Given the description of an element on the screen output the (x, y) to click on. 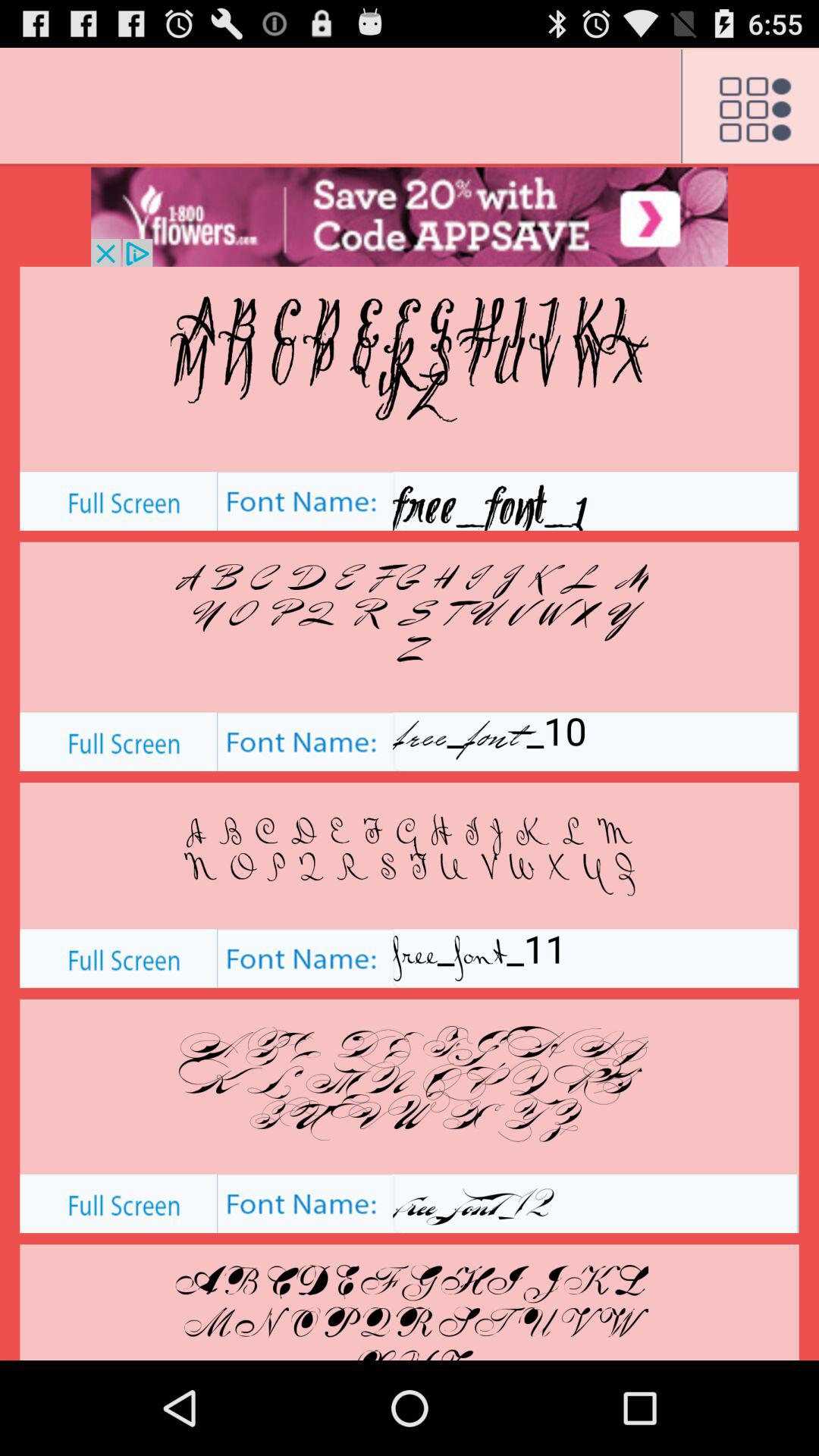
view advertisement (409, 216)
